Given the description of an element on the screen output the (x, y) to click on. 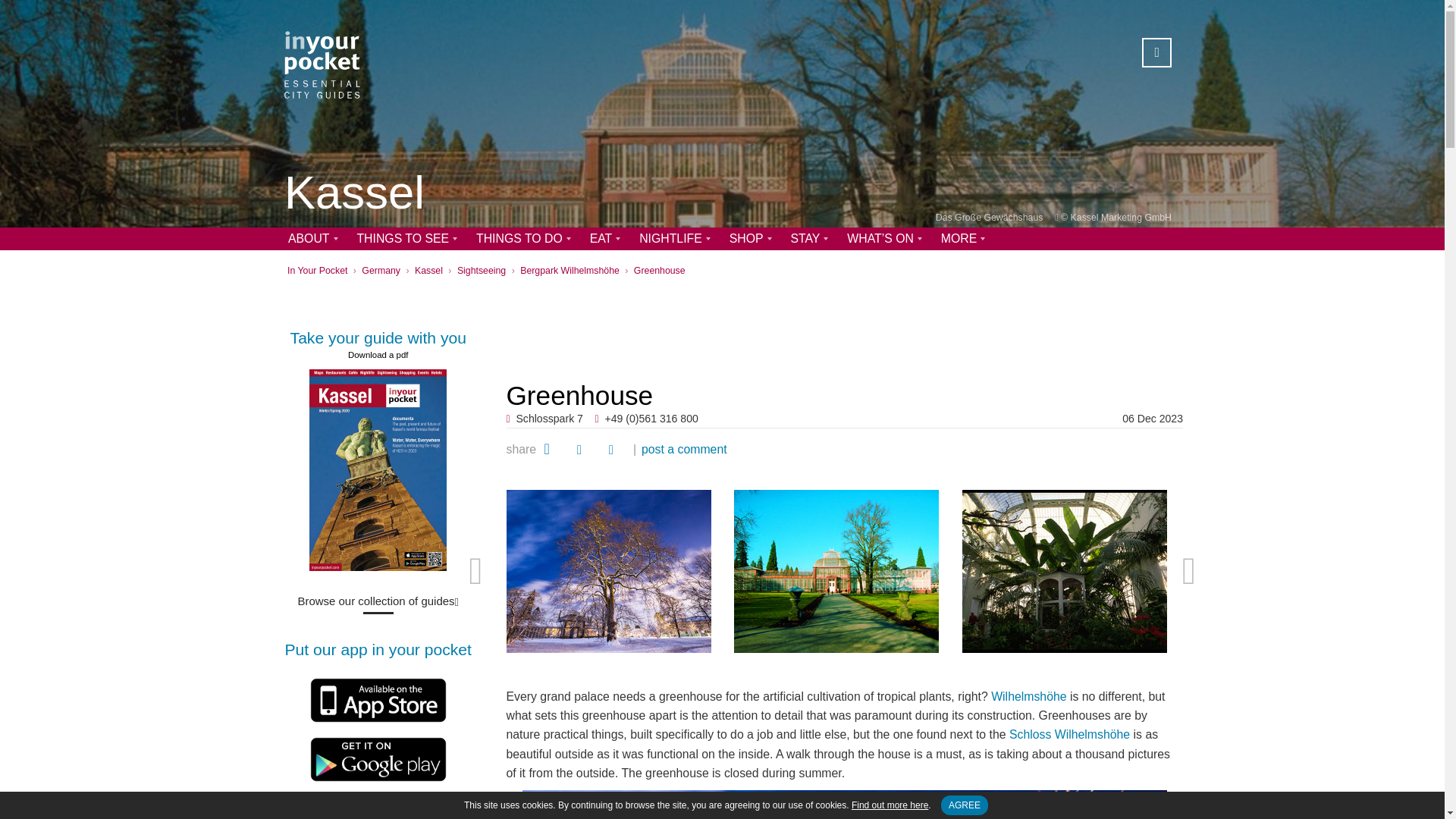
Germany (380, 270)
Advertisement (845, 325)
post a comment (684, 448)
Kassel (354, 194)
Schlosspark 7 (550, 418)
Greenhouse (659, 270)
In Your Pocket (316, 270)
Kassel (428, 270)
Sightseeing (481, 270)
